Given the description of an element on the screen output the (x, y) to click on. 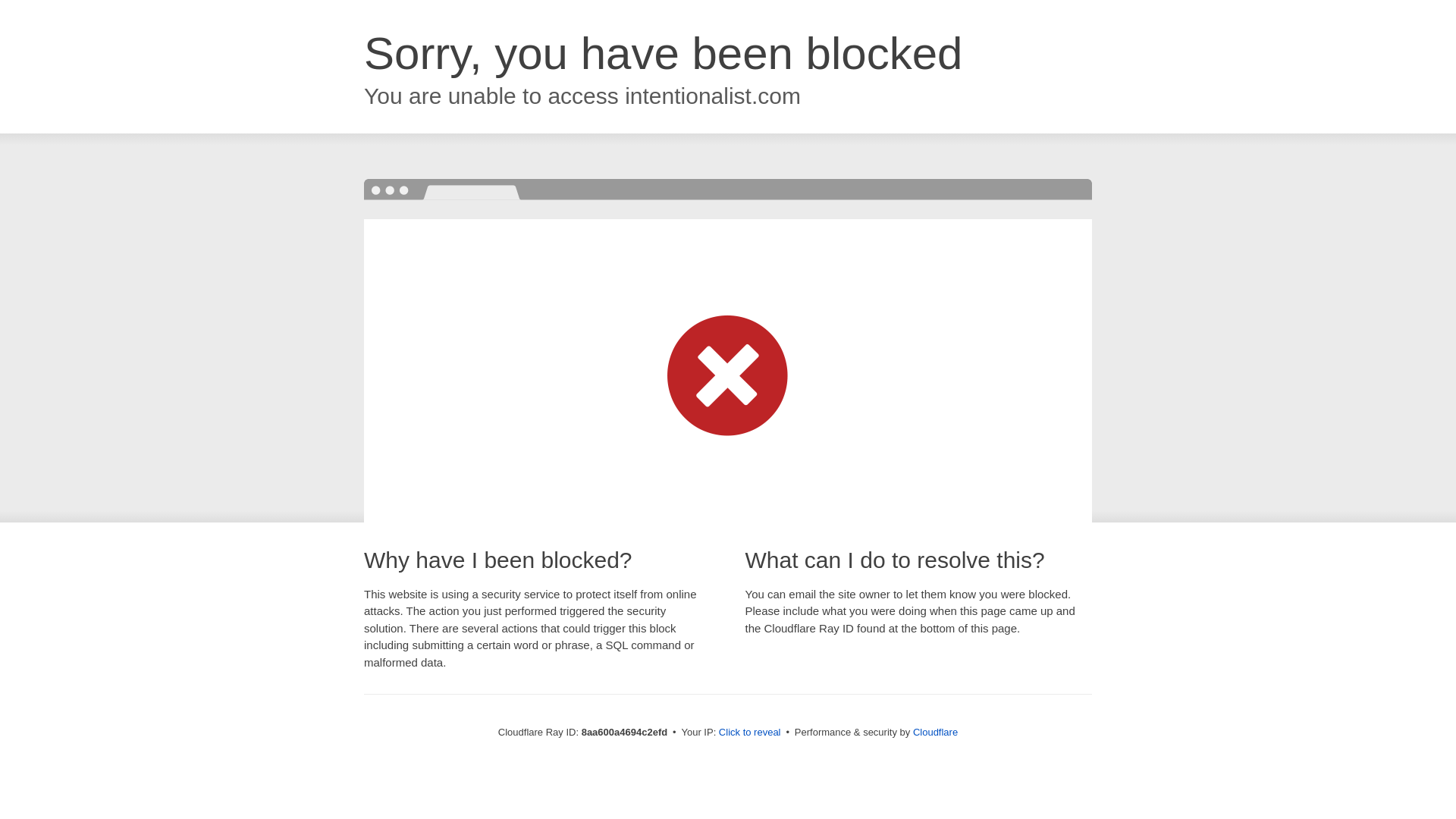
Click to reveal (749, 732)
Cloudflare (935, 731)
